Given the description of an element on the screen output the (x, y) to click on. 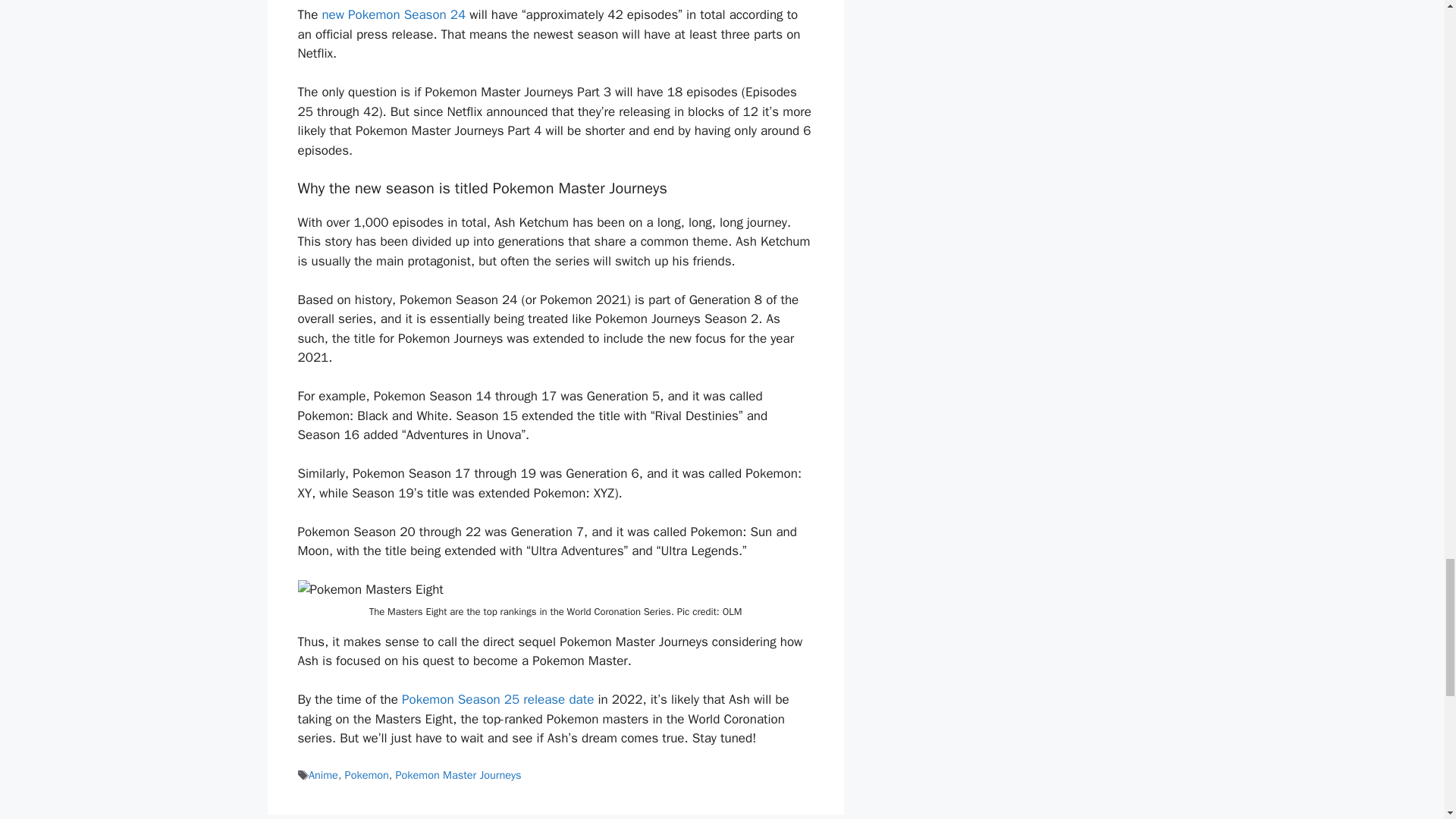
Pokemon Season 25 release date (497, 699)
Pokemon (366, 775)
new Pokemon Season 24 (393, 14)
Pokemon Master Journeys (457, 775)
Anime (322, 775)
